Given the description of an element on the screen output the (x, y) to click on. 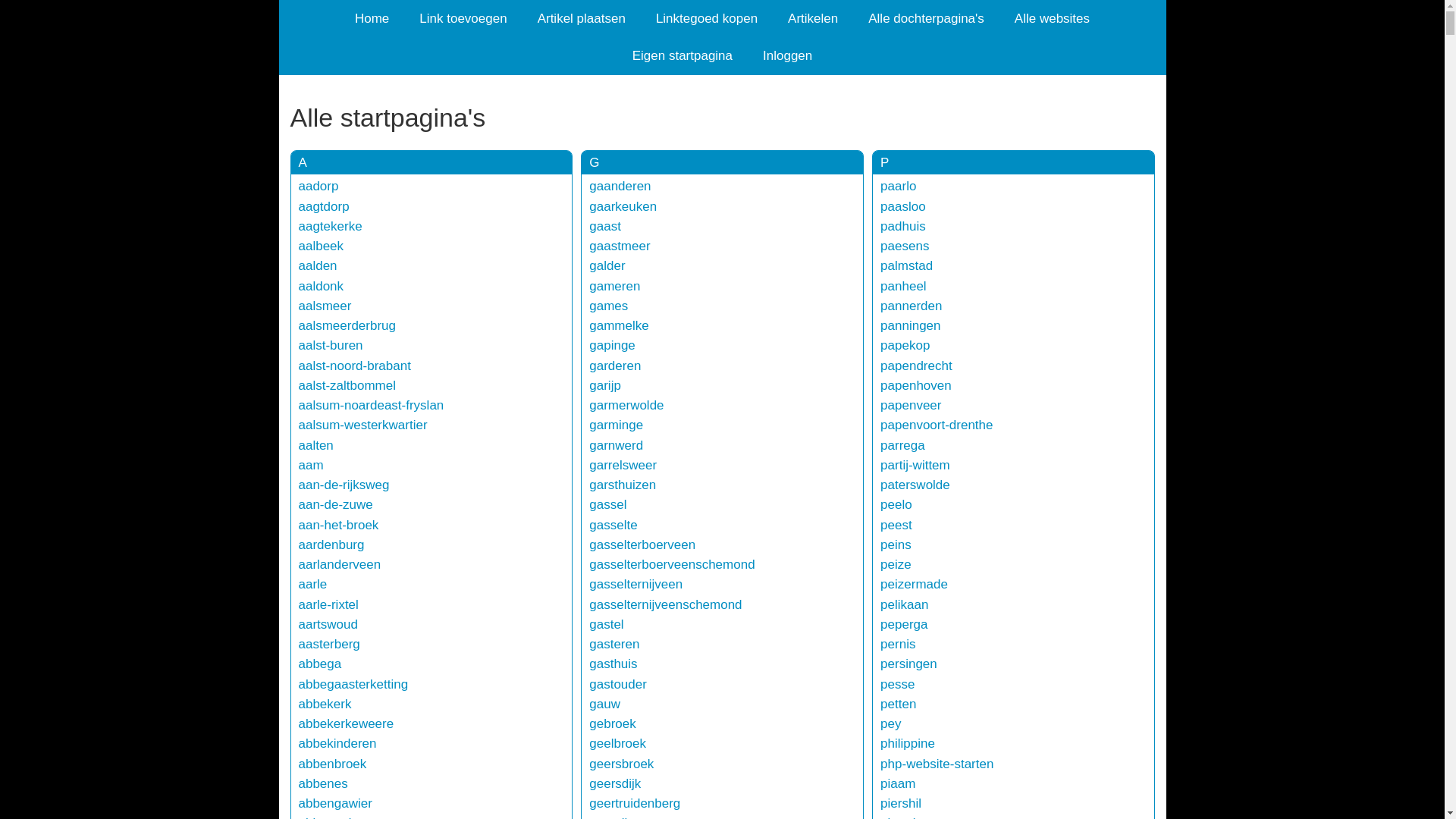
geelbroek Element type: text (617, 743)
aan-het-broek Element type: text (338, 524)
abbengawier Element type: text (335, 803)
padhuis Element type: text (902, 226)
gasselternijveen Element type: text (635, 584)
gasselterboerveenschemond Element type: text (671, 564)
Linktegoed kopen Element type: text (706, 18)
garmerwolde Element type: text (626, 405)
paesens Element type: text (904, 245)
philippine Element type: text (907, 743)
aalsmeerderbrug Element type: text (347, 325)
peelo Element type: text (896, 504)
paasloo Element type: text (902, 206)
gaastmeer Element type: text (619, 245)
aalst-noord-brabant Element type: text (354, 365)
Artikel plaatsen Element type: text (581, 18)
aalsum-westerkwartier Element type: text (362, 424)
gebroek Element type: text (612, 723)
gastel Element type: text (606, 624)
aalst-buren Element type: text (330, 345)
php-website-starten Element type: text (936, 763)
aalst-zaltbommel Element type: text (347, 385)
garnwerd Element type: text (616, 445)
gaast Element type: text (605, 226)
aalden Element type: text (317, 265)
aalbeek Element type: text (321, 245)
aasterberg Element type: text (329, 644)
aam Element type: text (310, 465)
piaam Element type: text (897, 783)
Artikelen Element type: text (812, 18)
parrega Element type: text (902, 445)
palmstad Element type: text (906, 265)
garijp Element type: text (605, 385)
gasselterboerveen Element type: text (642, 544)
pernis Element type: text (897, 644)
gapinge Element type: text (612, 345)
aadorp Element type: text (318, 185)
games Element type: text (608, 305)
abbekerk Element type: text (324, 703)
pelikaan Element type: text (904, 604)
garderen Element type: text (614, 365)
aarlanderveen Element type: text (339, 564)
garsthuizen Element type: text (622, 484)
gastouder Element type: text (617, 684)
gasthuis Element type: text (613, 663)
papekop Element type: text (904, 345)
geersbroek Element type: text (621, 763)
Inloggen Element type: text (787, 55)
aardenburg Element type: text (331, 544)
Eigen startpagina Element type: text (682, 55)
papenveer Element type: text (910, 405)
gaanderen Element type: text (619, 185)
abbega Element type: text (320, 663)
papenhoven Element type: text (915, 385)
aalsum-noardeast-fryslan Element type: text (371, 405)
pey Element type: text (890, 723)
pannerden Element type: text (910, 305)
panningen Element type: text (910, 325)
peizermade Element type: text (913, 584)
geertruidenberg Element type: text (634, 803)
garminge Element type: text (616, 424)
aarle-rixtel Element type: text (328, 604)
abbenes Element type: text (323, 783)
aagtdorp Element type: text (323, 206)
peins Element type: text (895, 544)
persingen Element type: text (908, 663)
gasselternijveenschemond Element type: text (665, 604)
peize Element type: text (895, 564)
aan-de-rijksweg Element type: text (343, 484)
pesse Element type: text (897, 684)
abbegaasterketting Element type: text (353, 684)
papendrecht Element type: text (916, 365)
piershil Element type: text (900, 803)
gauw Element type: text (604, 703)
papenvoort-drenthe Element type: text (936, 424)
garrelsweer Element type: text (622, 465)
peest Element type: text (896, 524)
galder Element type: text (606, 265)
aan-de-zuwe Element type: text (335, 504)
paarlo Element type: text (898, 185)
peperga Element type: text (903, 624)
gaarkeuken Element type: text (622, 206)
gameren Element type: text (614, 286)
Link toevoegen Element type: text (462, 18)
aaldonk Element type: text (321, 286)
paterswolde Element type: text (915, 484)
Alle websites Element type: text (1051, 18)
Alle dochterpagina's Element type: text (926, 18)
aagtekerke Element type: text (330, 226)
geersdijk Element type: text (614, 783)
gammelke Element type: text (618, 325)
aartswoud Element type: text (327, 624)
aalten Element type: text (315, 445)
aalsmeer Element type: text (324, 305)
gassel Element type: text (607, 504)
abbekerkeweere Element type: text (346, 723)
partij-wittem Element type: text (915, 465)
panheel Element type: text (903, 286)
abbekinderen Element type: text (337, 743)
gasteren Element type: text (614, 644)
abbenbroek Element type: text (332, 763)
gasselte Element type: text (613, 524)
petten Element type: text (898, 703)
aarle Element type: text (312, 584)
Home Element type: text (371, 18)
